Given the description of an element on the screen output the (x, y) to click on. 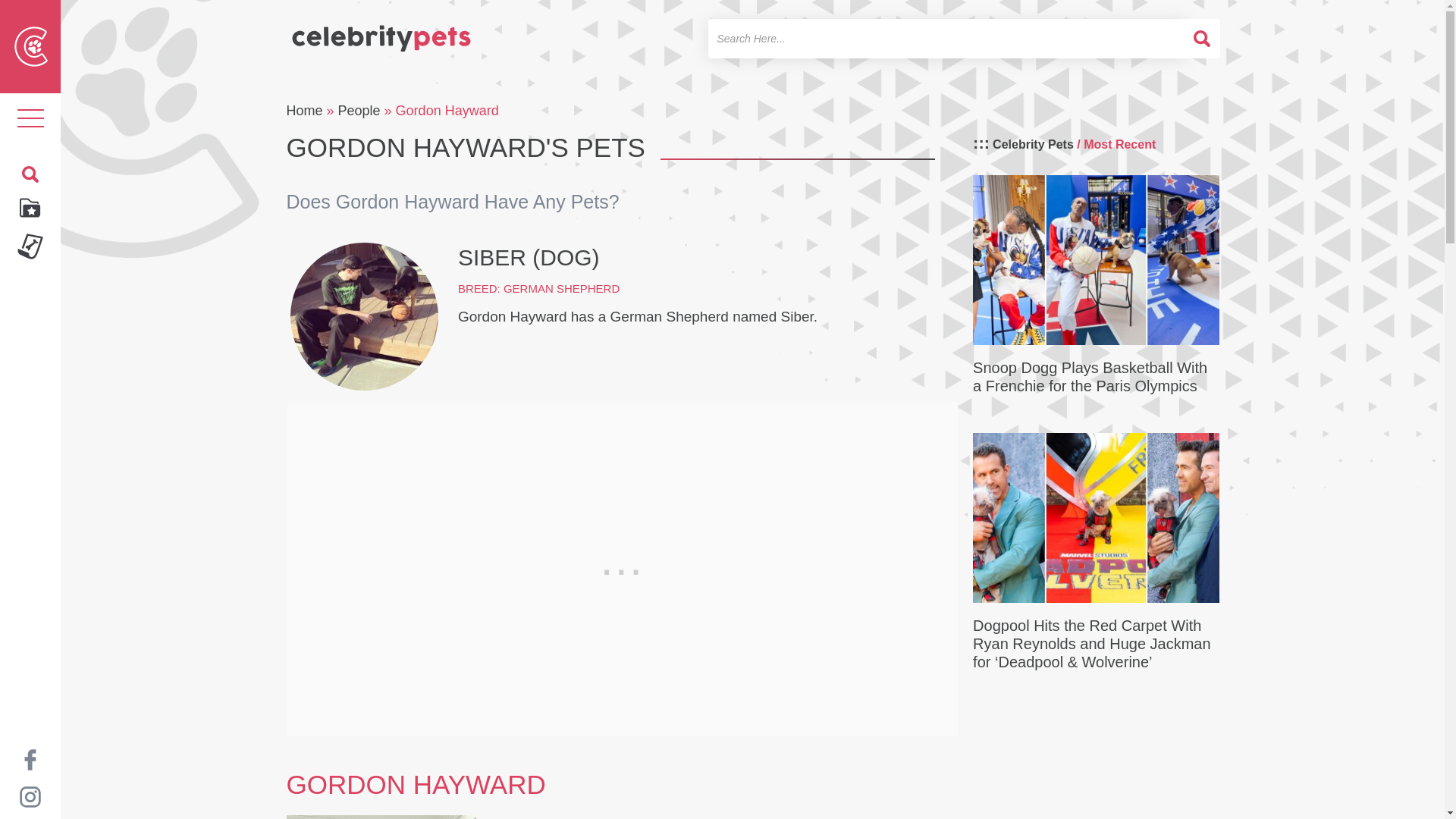
Celebrty Pets (381, 32)
Search for (946, 38)
Toggle navigation (29, 117)
Celebrity Pets on Instagram (29, 795)
Celebrty Pets Icon (31, 45)
Celebrity Pets on Facebook (29, 758)
